Given the description of an element on the screen output the (x, y) to click on. 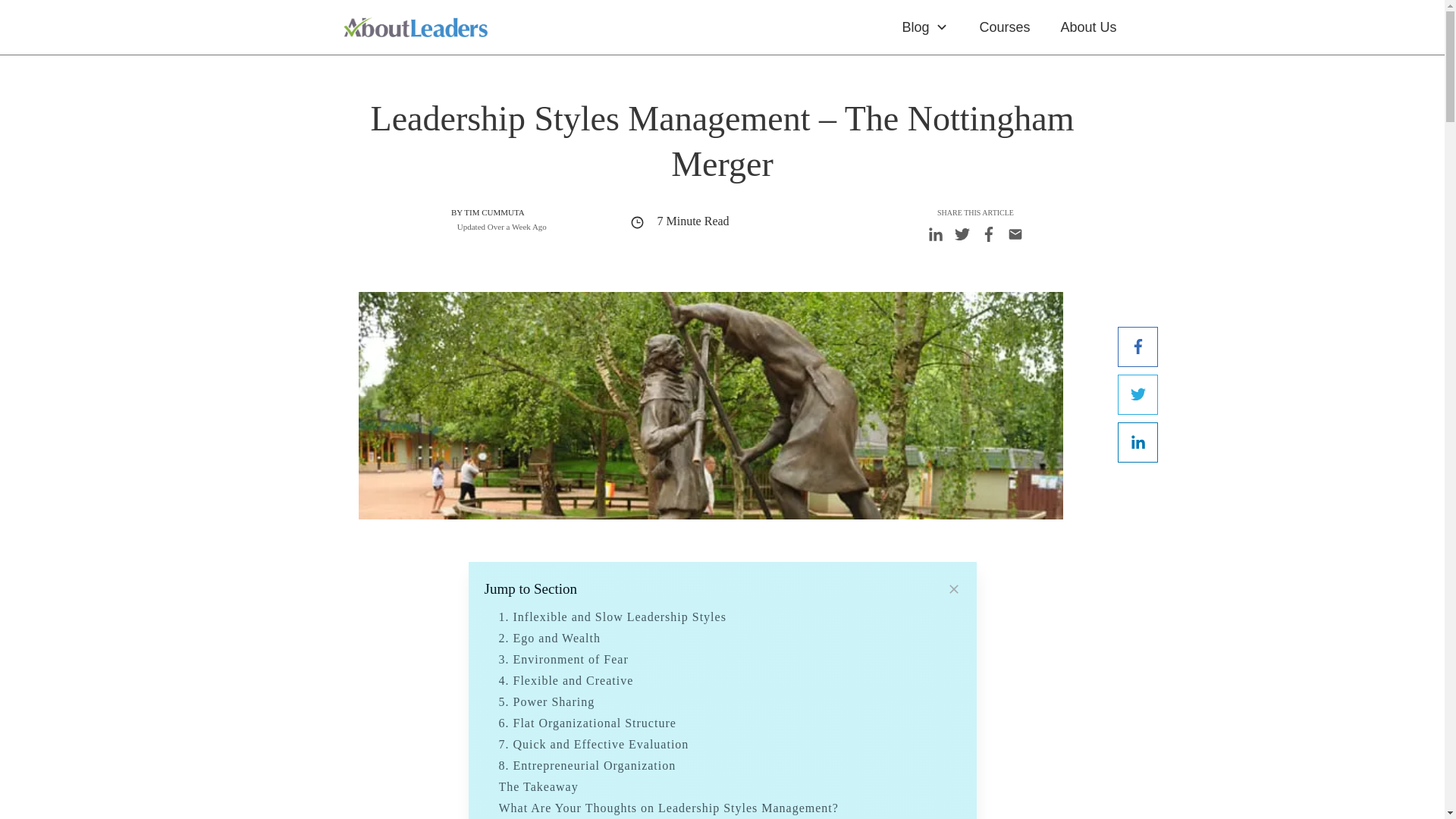
8. Entrepreneurial Organization (588, 765)
4. Flexible and Creative (566, 680)
The Takeaway (538, 786)
What Are Your Thoughts on Leadership Styles Management? (668, 807)
7. Quick and Effective Evaluation (593, 744)
2. Ego and Wealth (550, 638)
About Us (1087, 26)
What Are Your Thoughts on Leadership Styles Management? (668, 807)
4. Flexible and Creative (566, 680)
